Given the description of an element on the screen output the (x, y) to click on. 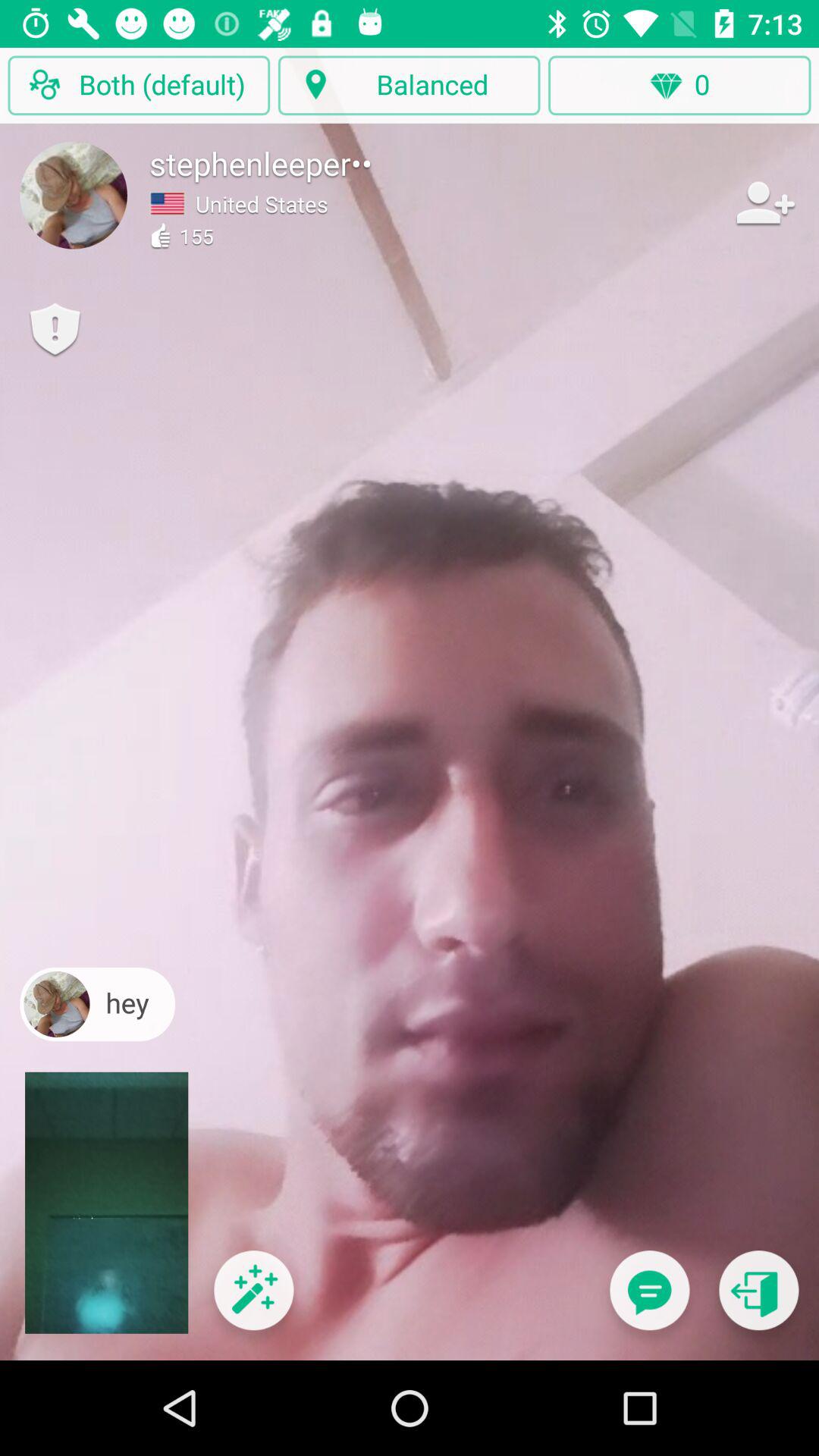
view profile (73, 195)
